Given the description of an element on the screen output the (x, y) to click on. 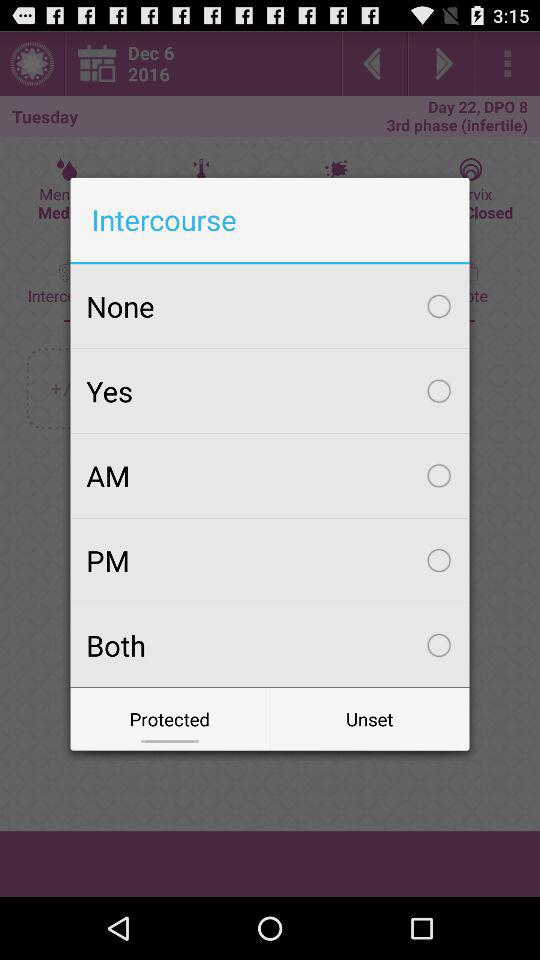
click yes (269, 391)
